Given the description of an element on the screen output the (x, y) to click on. 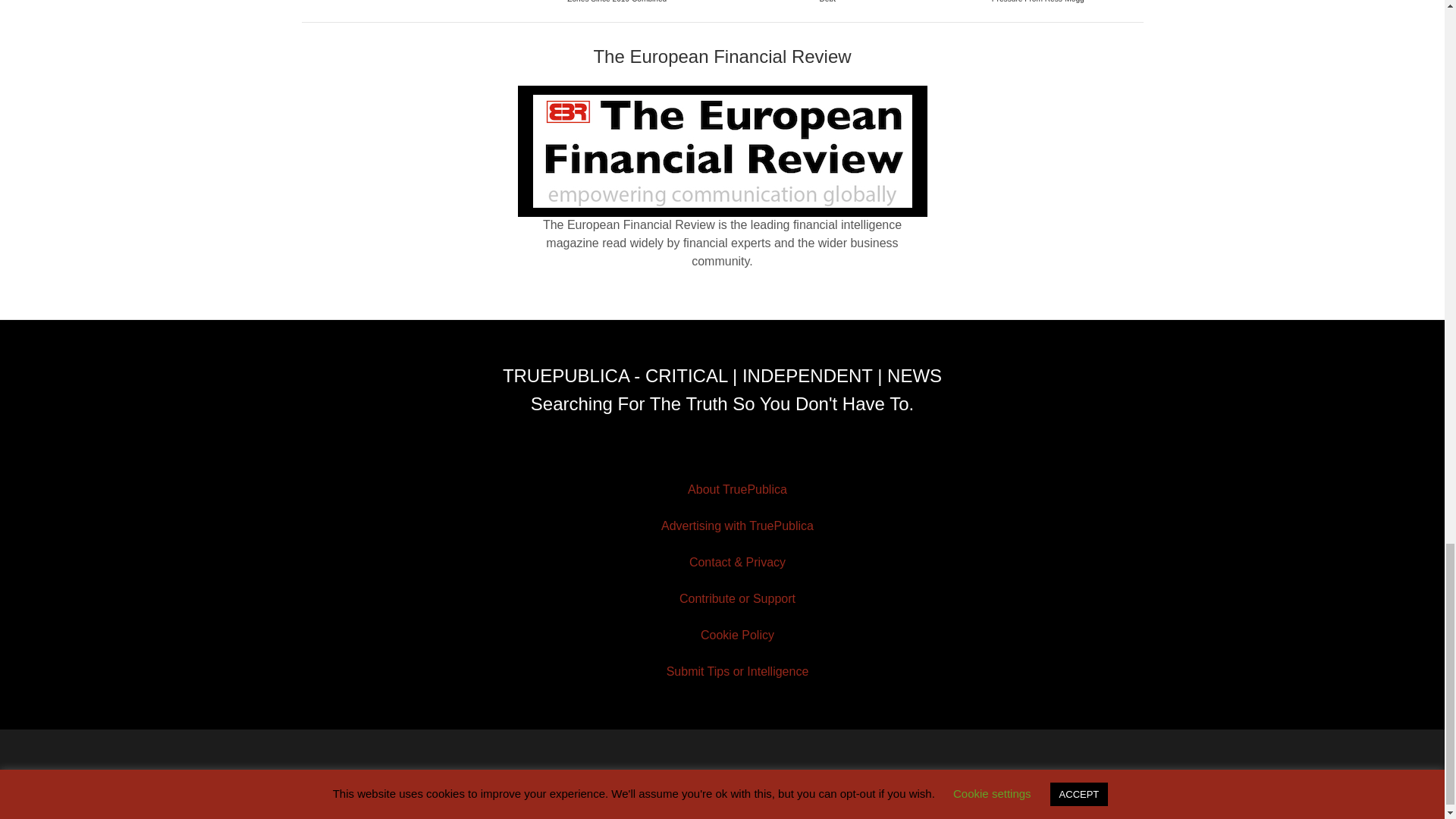
Got to European financial review website (721, 151)
